Given the description of an element on the screen output the (x, y) to click on. 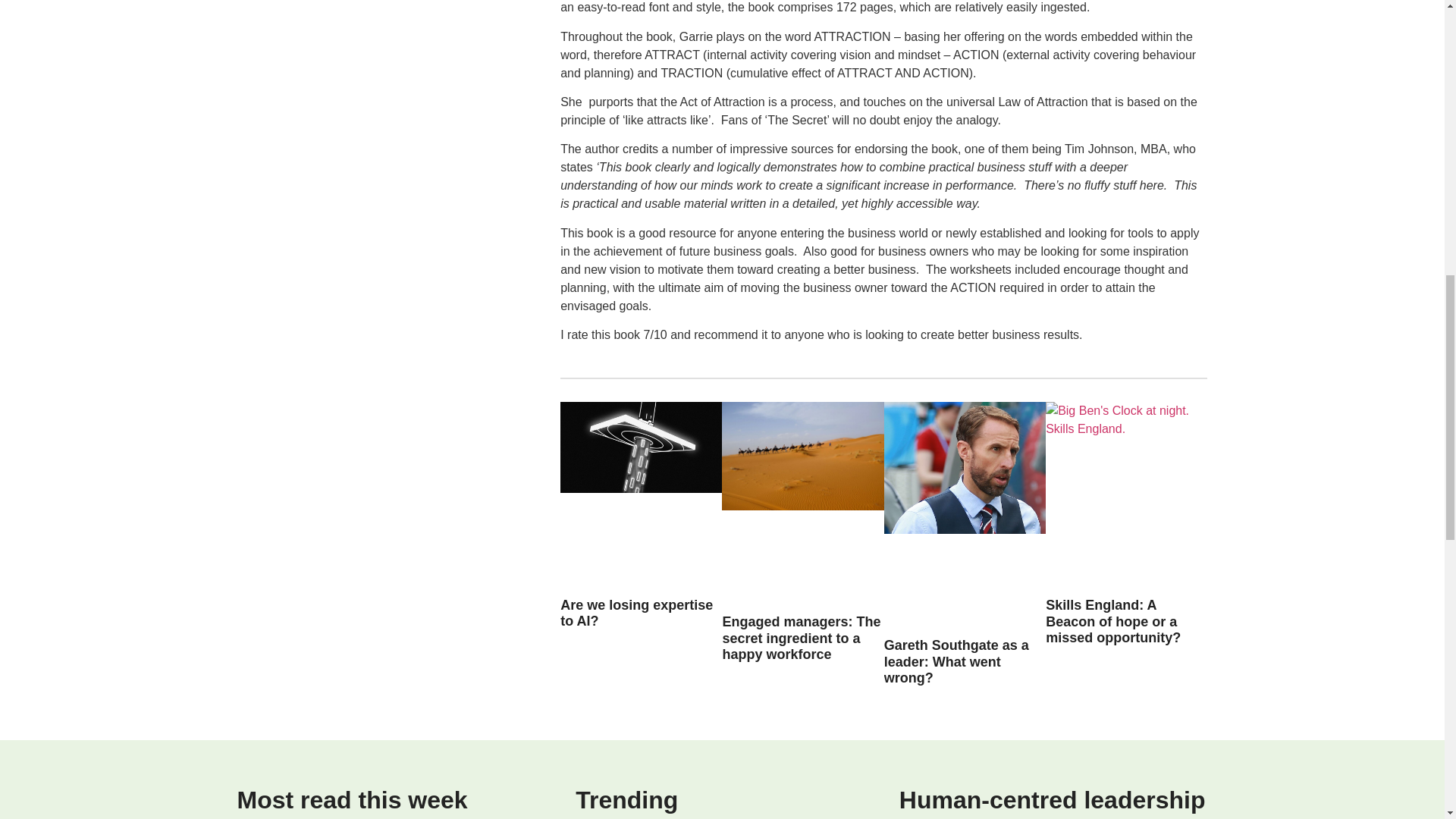
Are we losing expertise to AI? (636, 613)
Engaged managers: The secret ingredient to a happy workforce (801, 637)
